Given the description of an element on the screen output the (x, y) to click on. 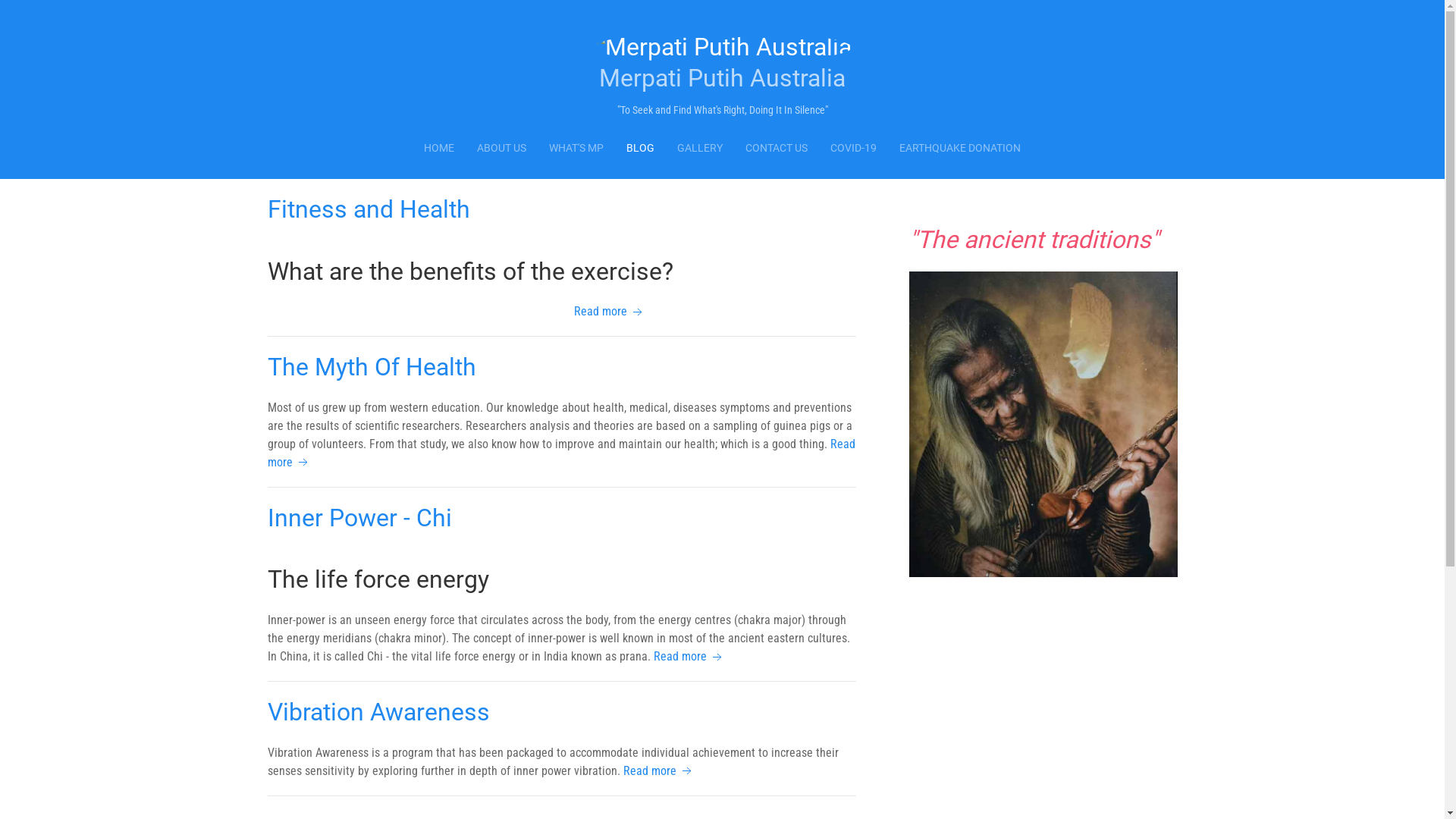
CONTACT US Element type: text (776, 148)
ABOUT US Element type: text (501, 148)
WHAT'S MP Element type: text (576, 148)
HOME Element type: text (438, 148)
BLOG Element type: text (640, 148)
Read more Element type: text (688, 656)
Fitness and Health Element type: text (367, 208)
Vibration Awareness Element type: text (377, 711)
Read more Element type: text (609, 311)
The Myth Of Health Element type: text (370, 366)
COVID-19 Element type: text (853, 148)
GALLERY Element type: text (699, 148)
Read more Element type: text (560, 452)
EARTHQUAKE DONATION Element type: text (960, 148)
Inner Power - Chi Element type: text (358, 517)
Read more Element type: text (658, 769)
